Given the description of an element on the screen output the (x, y) to click on. 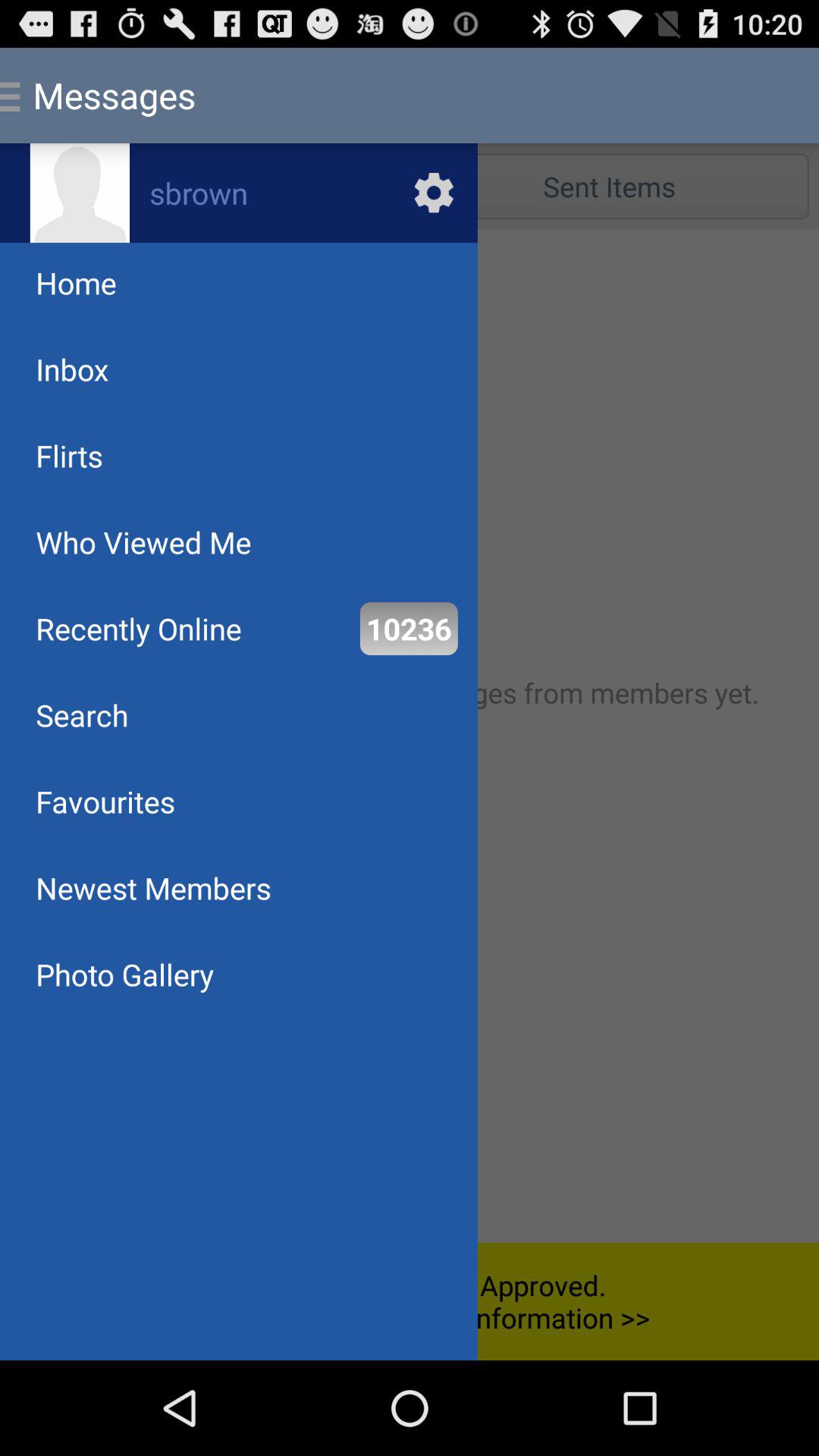
turn on the item below the inbox item (409, 735)
